Given the description of an element on the screen output the (x, y) to click on. 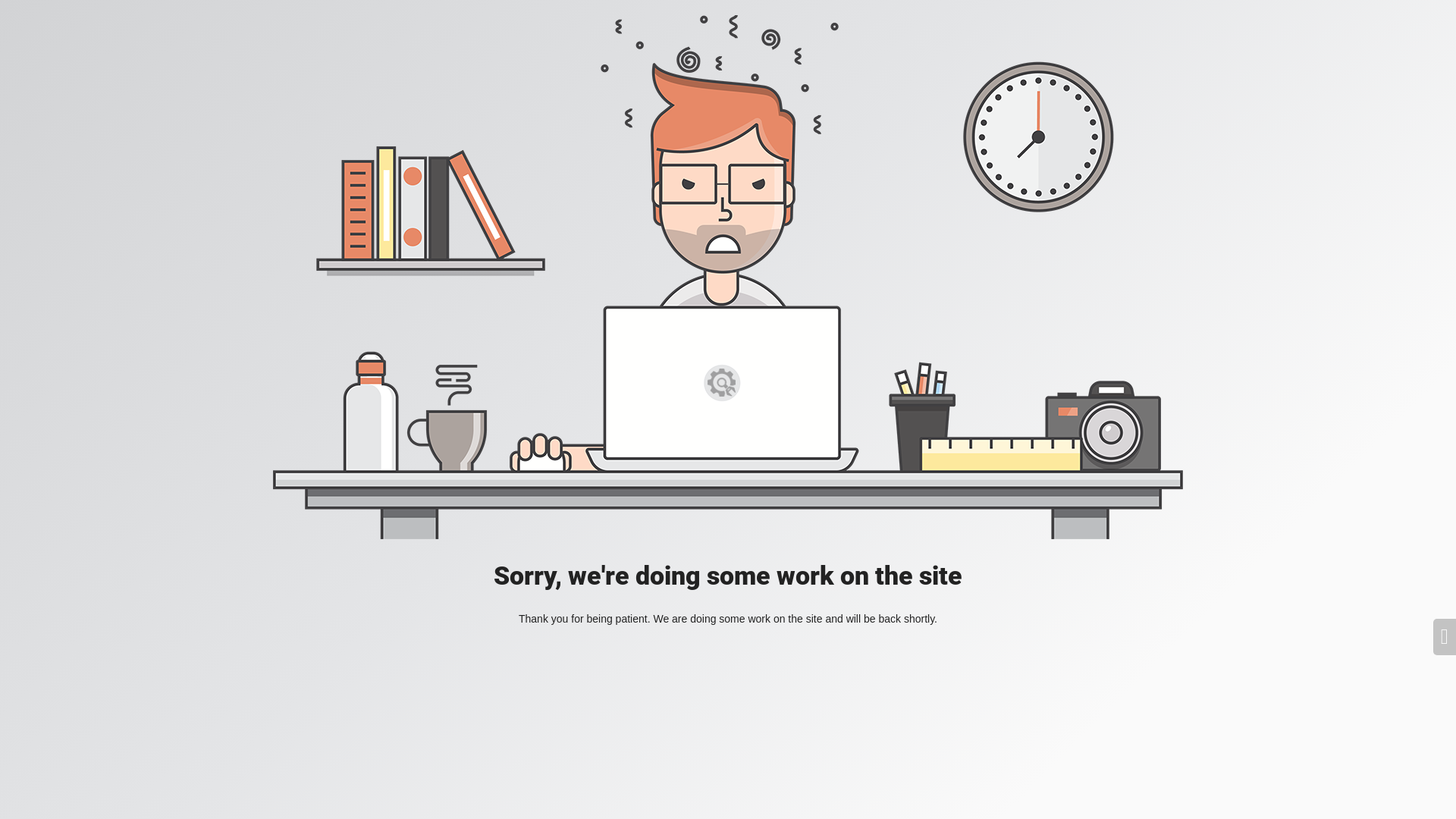
Mad Designer at work Element type: hover (728, 277)
